Given the description of an element on the screen output the (x, y) to click on. 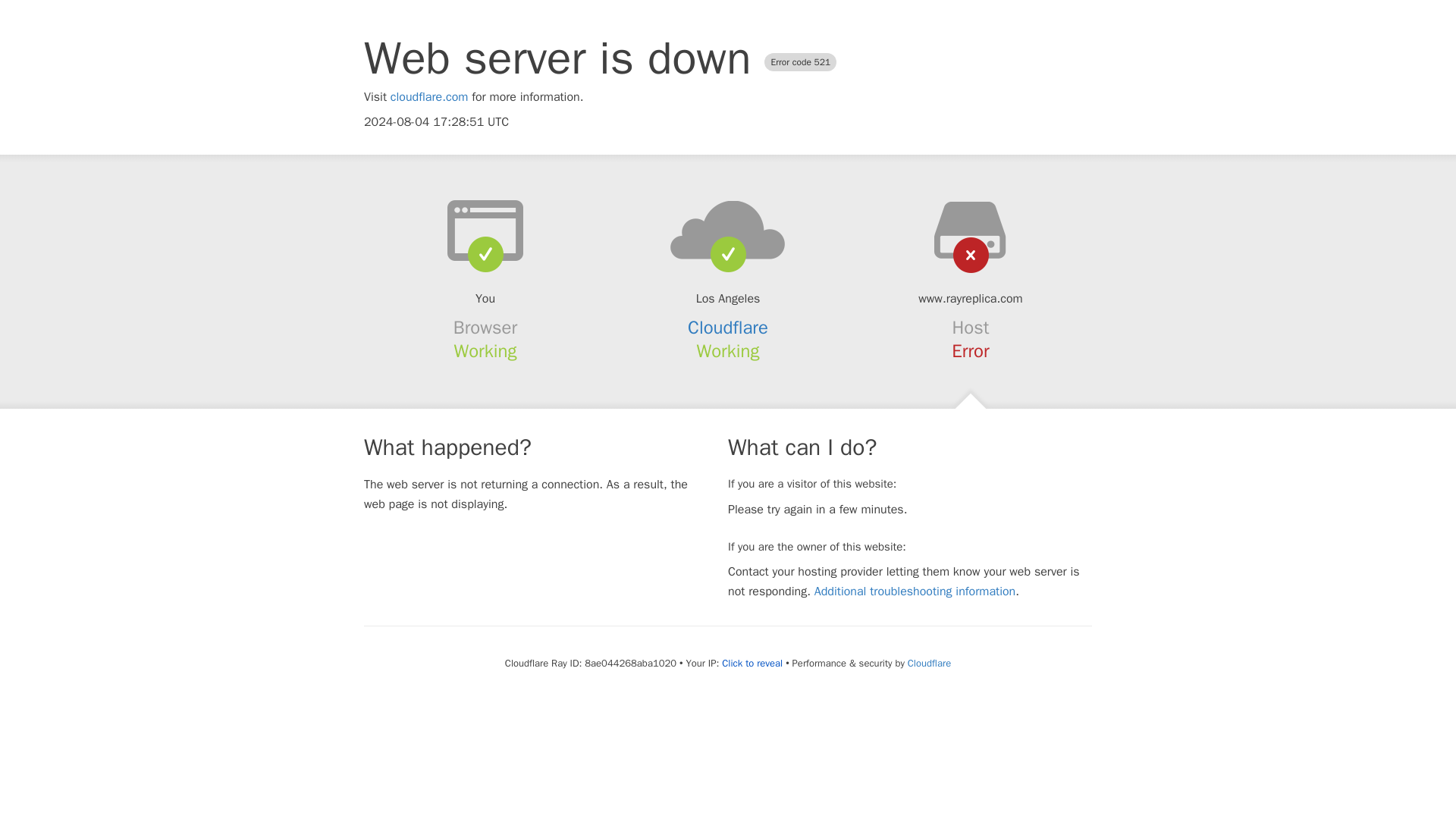
Click to reveal (752, 663)
Additional troubleshooting information (913, 590)
Cloudflare (928, 662)
cloudflare.com (429, 96)
Cloudflare (727, 327)
